Given the description of an element on the screen output the (x, y) to click on. 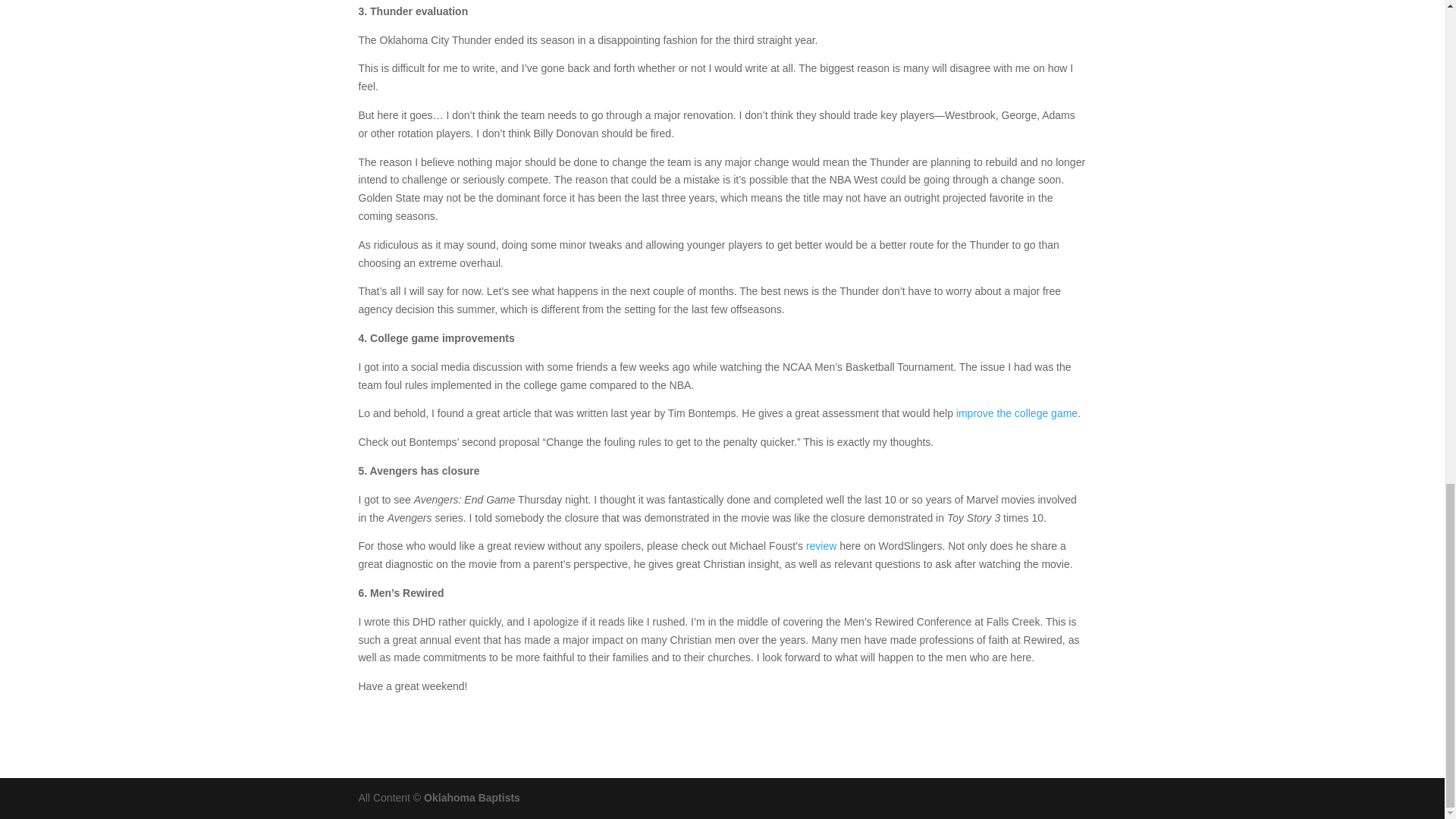
review (820, 545)
improve the college game (1016, 413)
Oklahoma Baptists (471, 797)
